Given the description of an element on the screen output the (x, y) to click on. 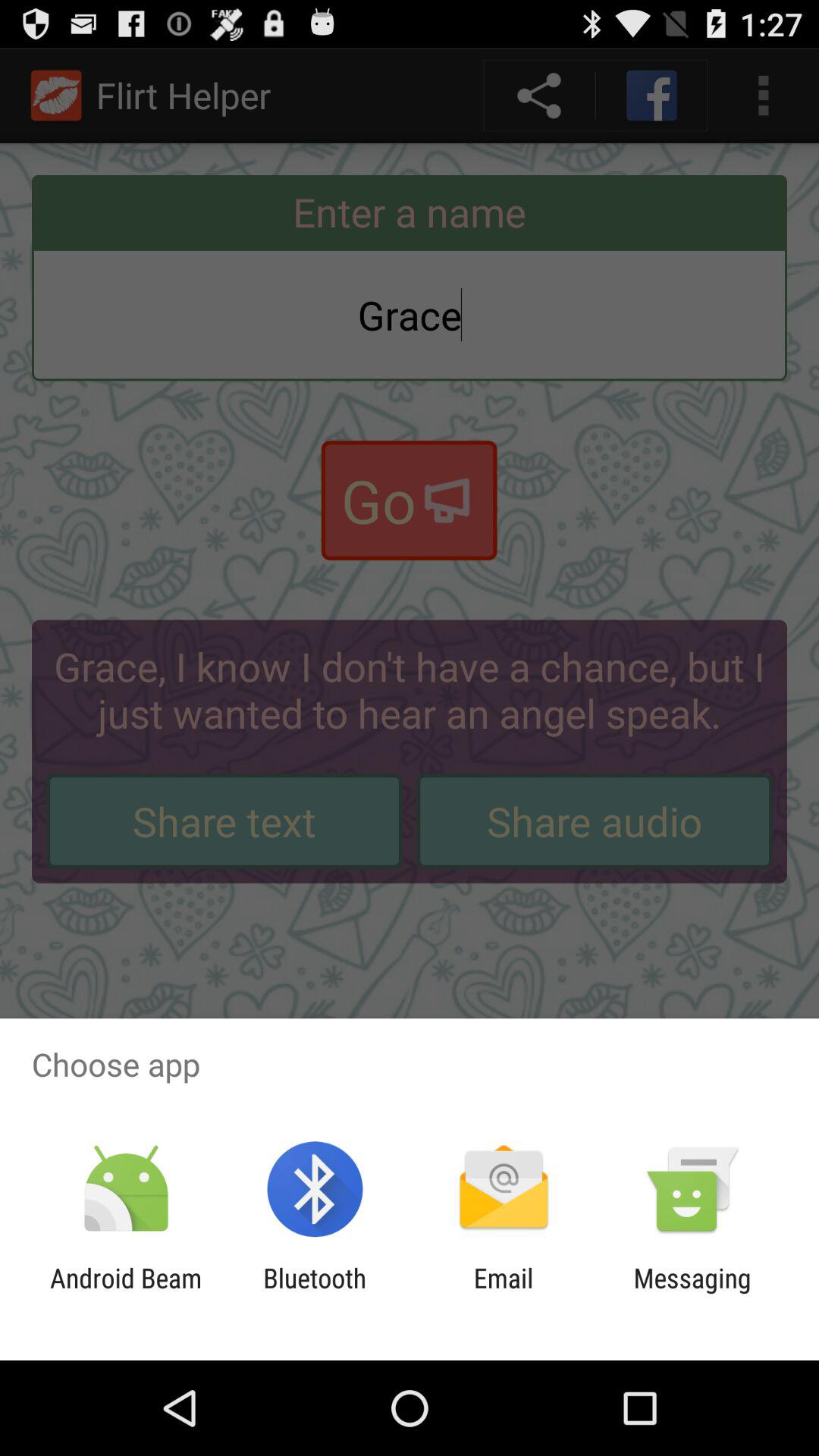
flip until messaging app (692, 1293)
